Given the description of an element on the screen output the (x, y) to click on. 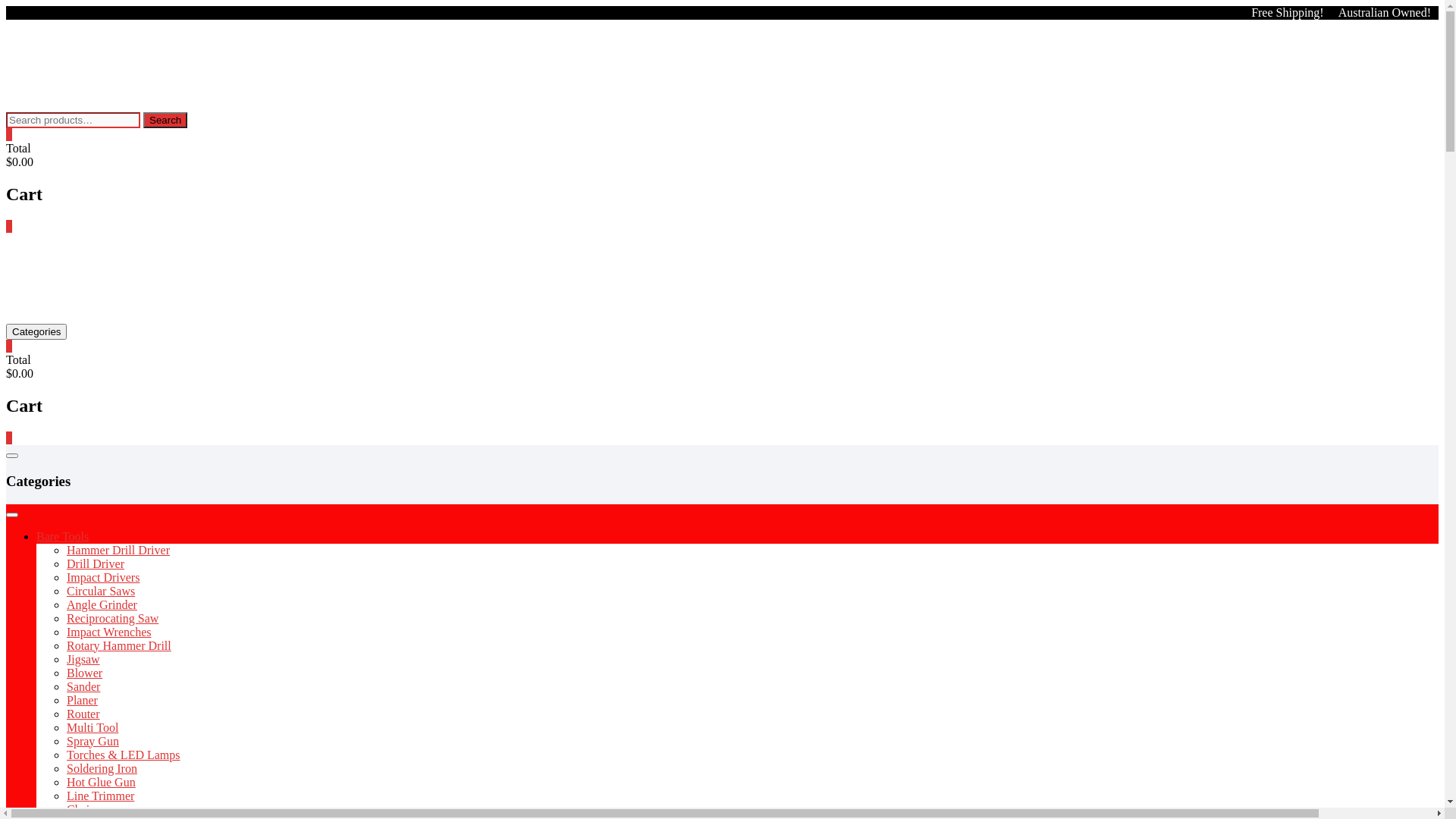
Hot Glue Gun Element type: text (100, 781)
Impact Drivers Element type: text (102, 577)
Multi Tool Element type: text (92, 727)
Drill Driver Element type: text (95, 563)
Reciprocating Saw Element type: text (112, 617)
0 Element type: text (9, 437)
Spray Gun Element type: text (92, 740)
0 Element type: text (9, 225)
Hammer Drill Driver Element type: text (117, 549)
Rotary Hammer Drill Element type: text (118, 645)
Torches & LED Lamps Element type: text (123, 754)
Categories Element type: text (36, 331)
Router Element type: text (83, 713)
Skip to content Element type: text (5, 5)
Search Element type: text (165, 120)
Jigsaw Element type: text (83, 658)
Sander Element type: text (83, 686)
Bare Tools Element type: text (62, 536)
Planer Element type: text (81, 699)
0 Element type: text (9, 134)
Impact Wrenches Element type: text (108, 631)
Blower Element type: text (84, 672)
Angle Grinder Element type: text (101, 604)
Chainsaw Element type: text (90, 809)
Circular Saws Element type: text (100, 590)
Soldering Iron Element type: text (101, 768)
Catalogue Menu Element type: text (12, 455)
Line Trimmer Element type: text (100, 795)
0 Element type: text (9, 345)
